Given the description of an element on the screen output the (x, y) to click on. 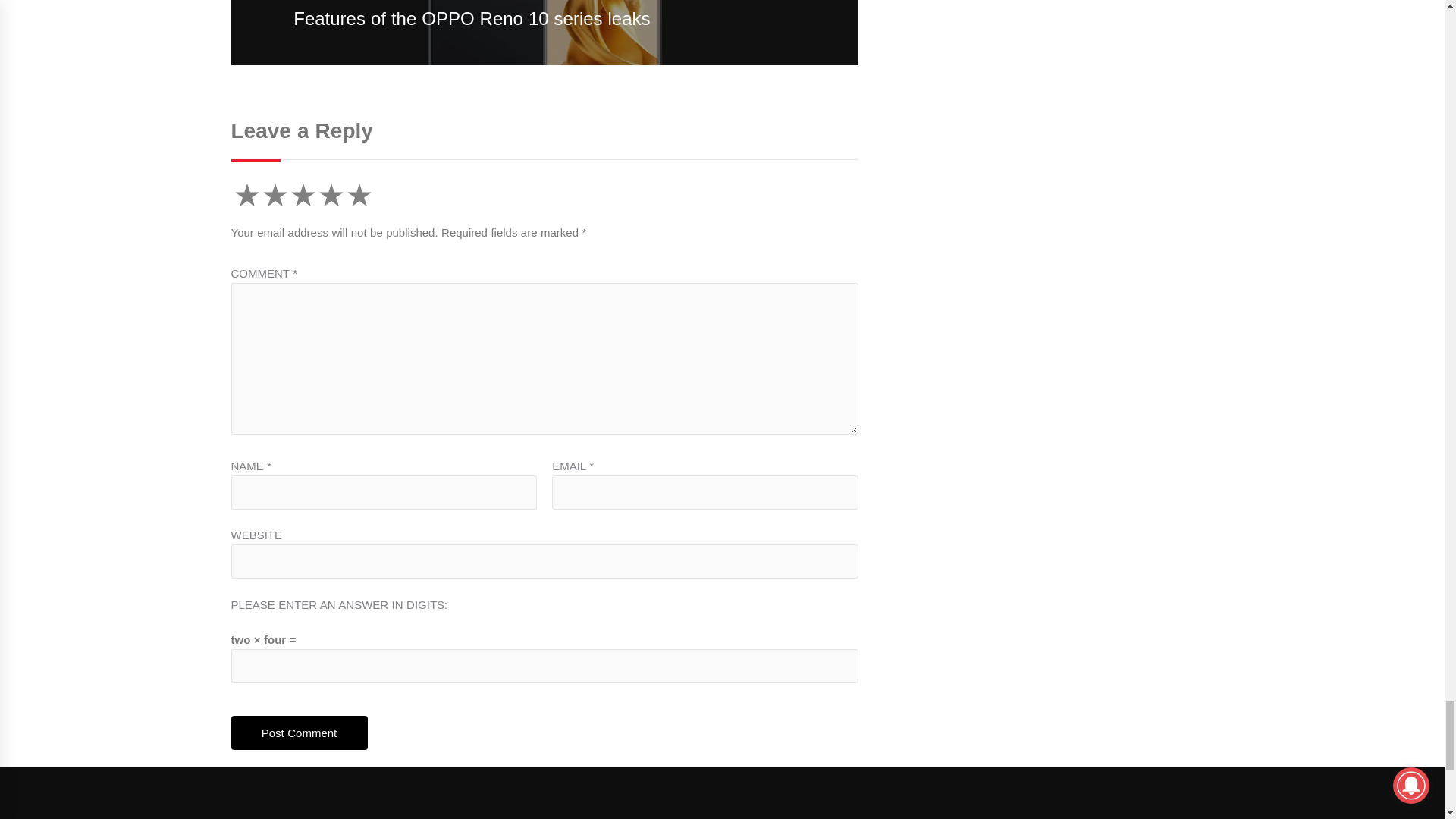
Post Comment (298, 732)
